Given the description of an element on the screen output the (x, y) to click on. 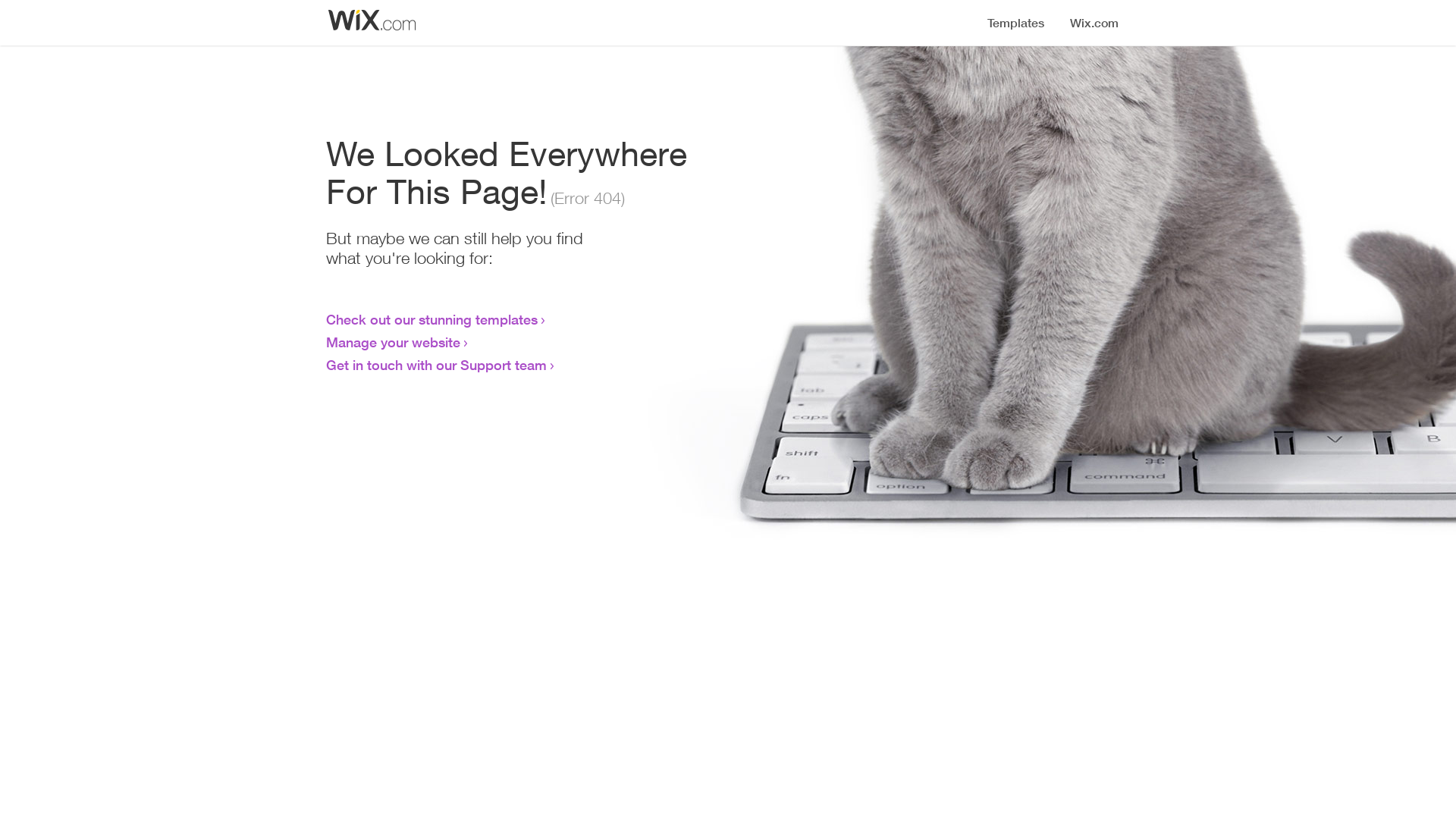
Get in touch with our Support team Element type: text (436, 364)
Check out our stunning templates Element type: text (431, 318)
Manage your website Element type: text (393, 341)
